Given the description of an element on the screen output the (x, y) to click on. 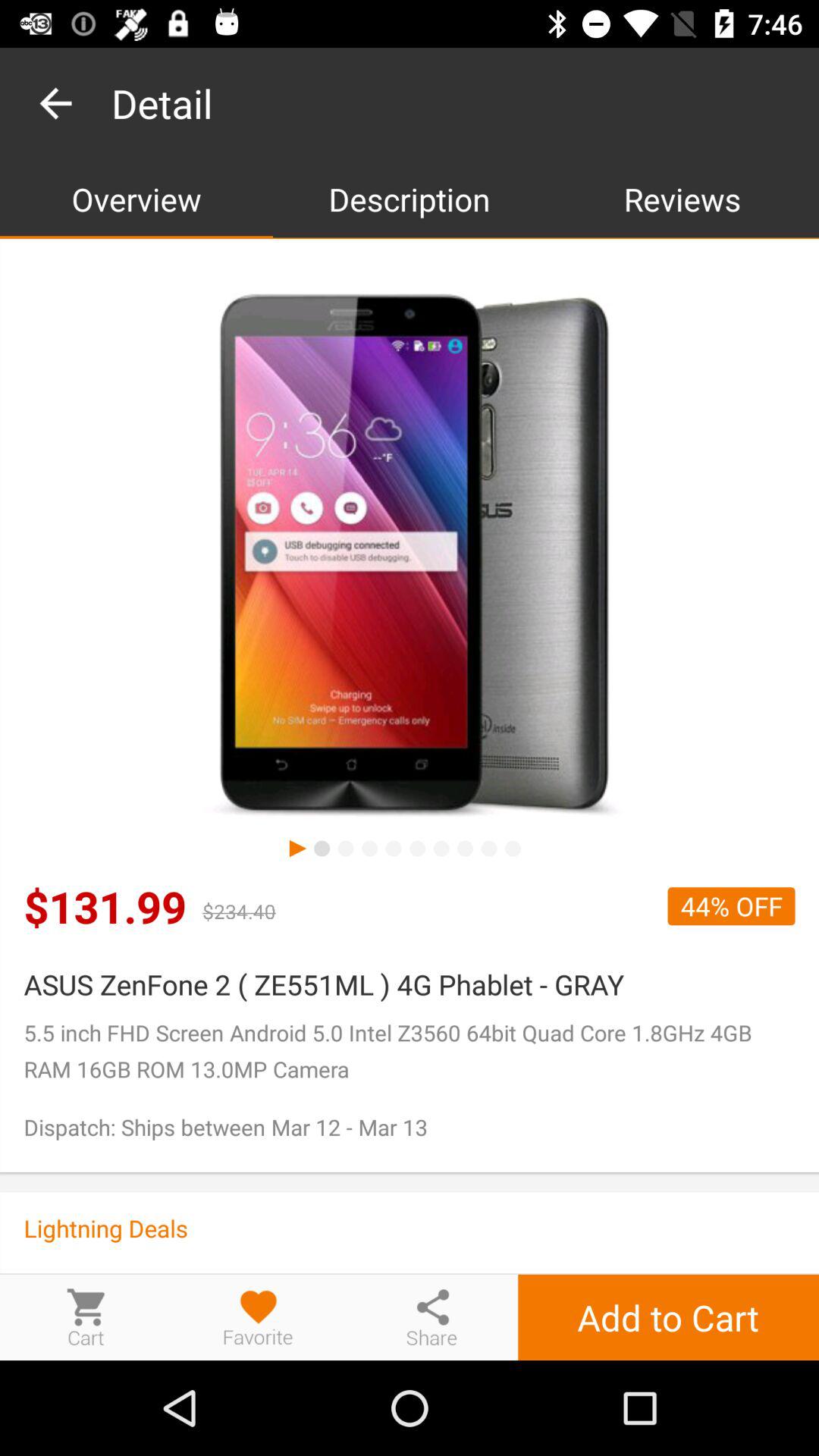
click the item next to the detail (55, 103)
